Given the description of an element on the screen output the (x, y) to click on. 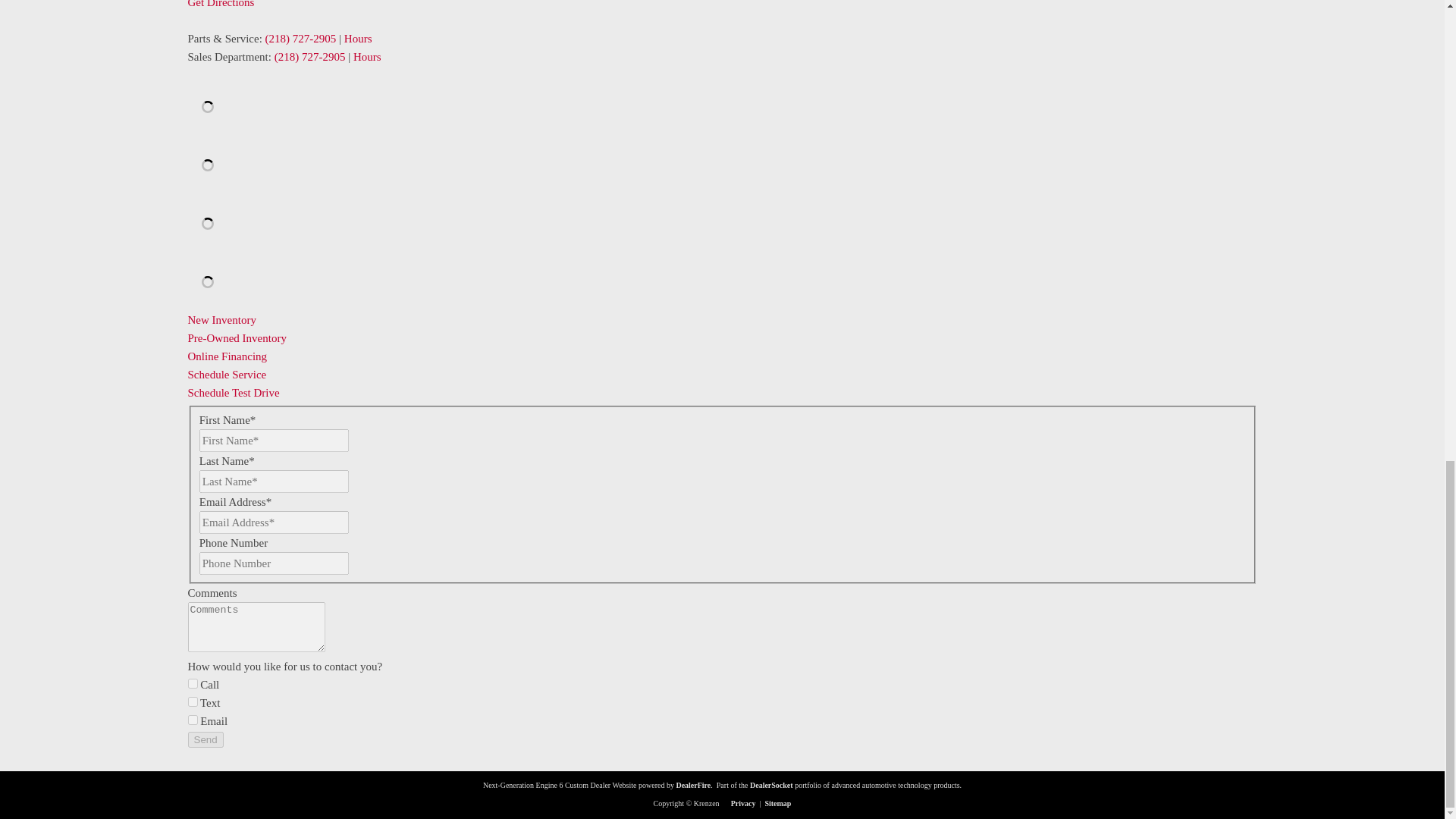
Call (192, 683)
Email (192, 719)
Text (192, 701)
